Given the description of an element on the screen output the (x, y) to click on. 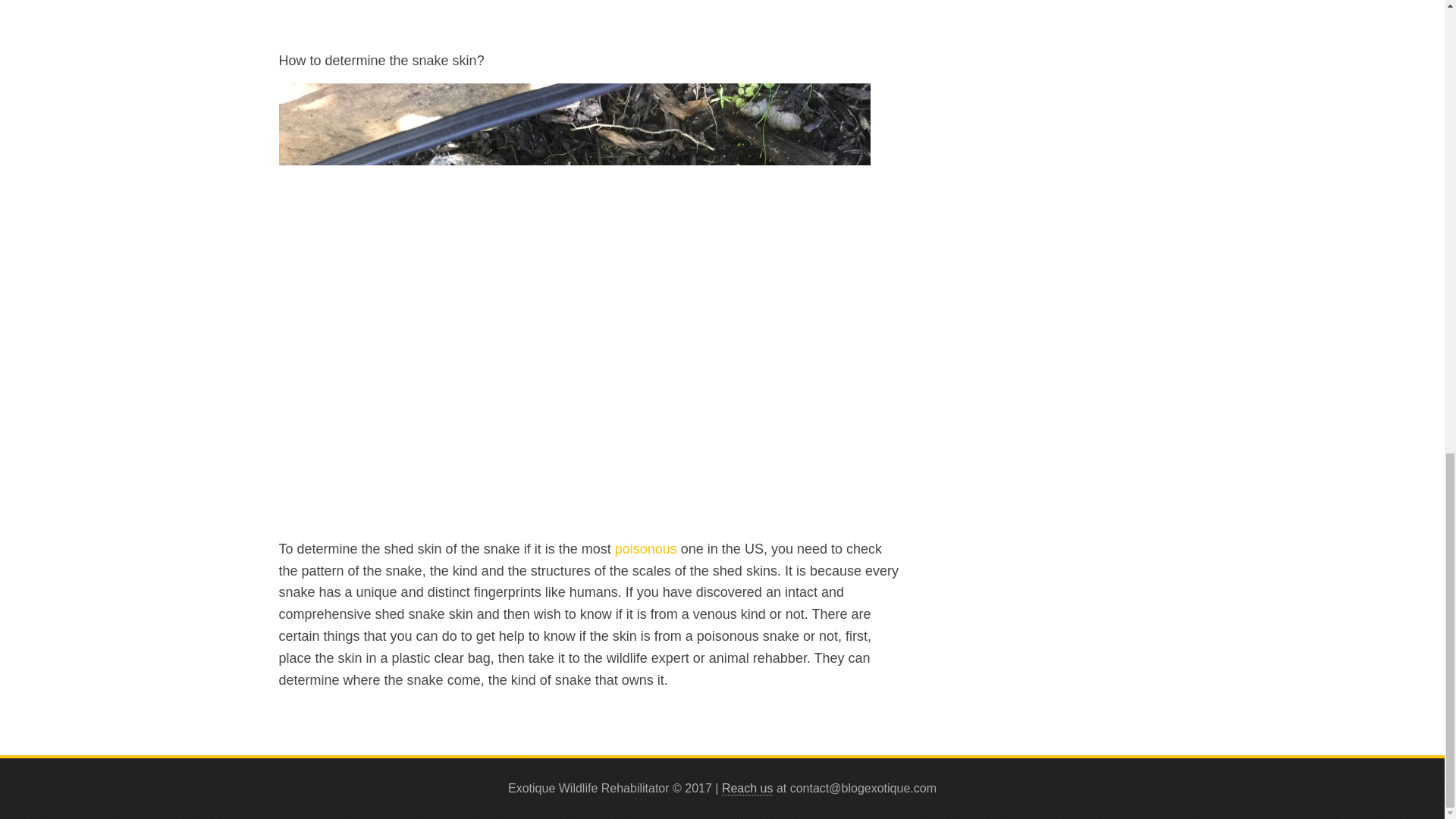
Reach us (747, 788)
poisonous (645, 548)
